Given the description of an element on the screen output the (x, y) to click on. 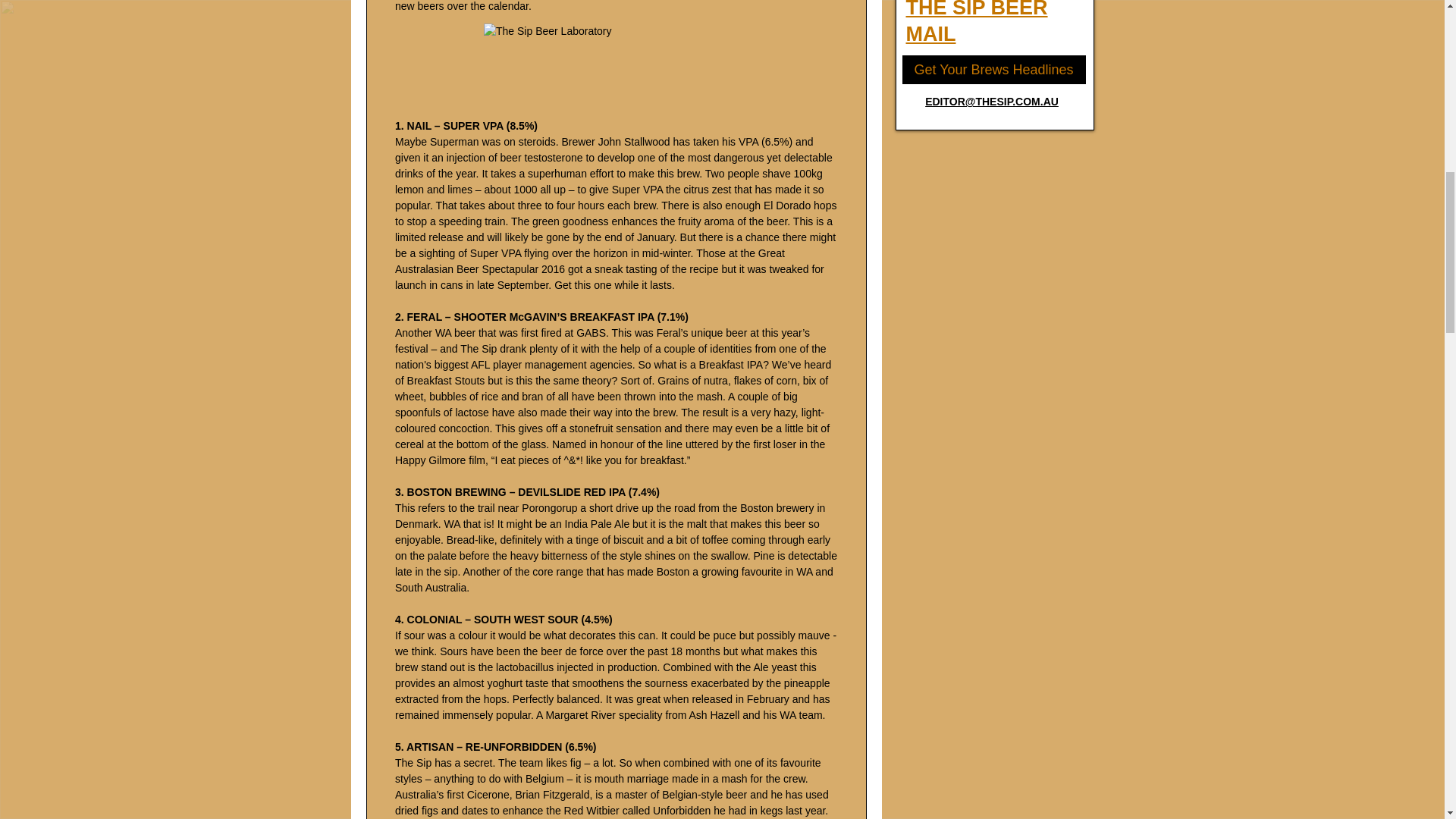
Get Your Brews Headlines (993, 69)
THE SIP BEER MAIL (975, 22)
